Given the description of an element on the screen output the (x, y) to click on. 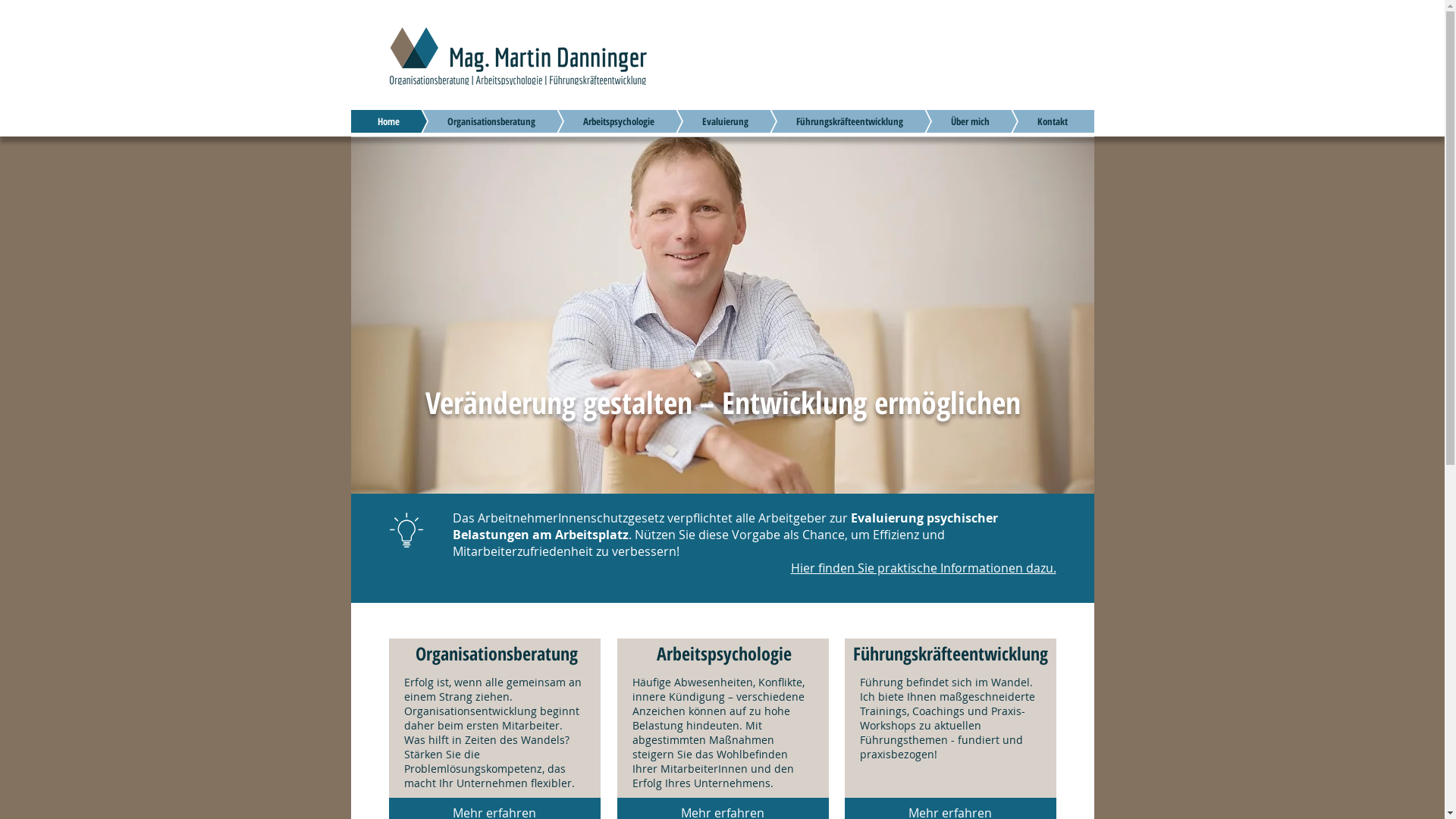
Organisationsberatung Element type: text (467, 120)
Evaluierung Element type: text (702, 120)
Arbeitspsychologie Element type: text (596, 120)
Hier finden Sie praktische Informationen dazu. Element type: text (922, 567)
Martin Danninger Element type: hover (721, 315)
Home Element type: text (388, 120)
Kontakt Element type: text (1028, 120)
